Given the description of an element on the screen output the (x, y) to click on. 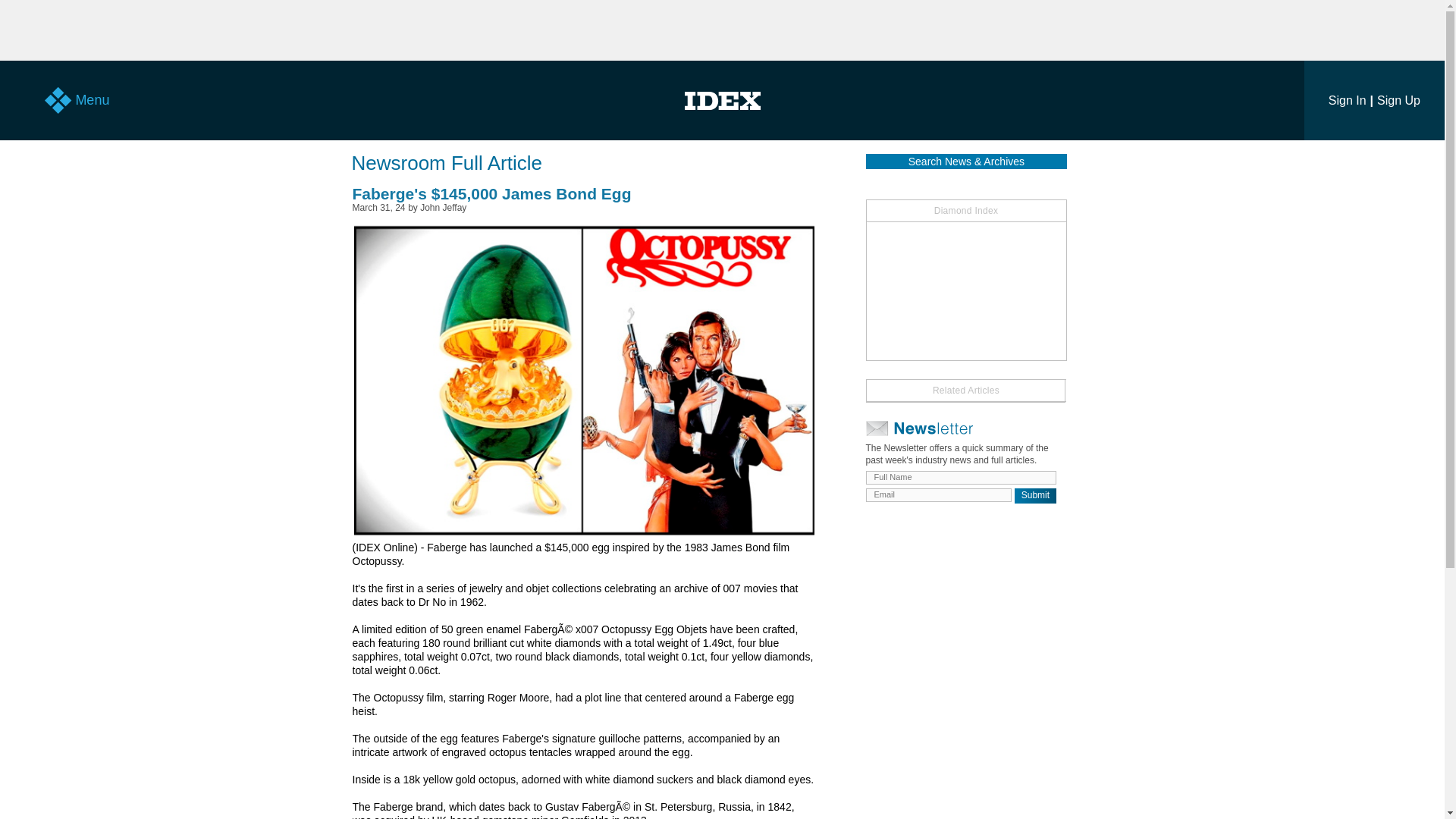
Sign Up (1399, 100)
Submit (1035, 495)
Diamond Index (965, 210)
Related Articles (965, 390)
Sign In (1347, 100)
